Given the description of an element on the screen output the (x, y) to click on. 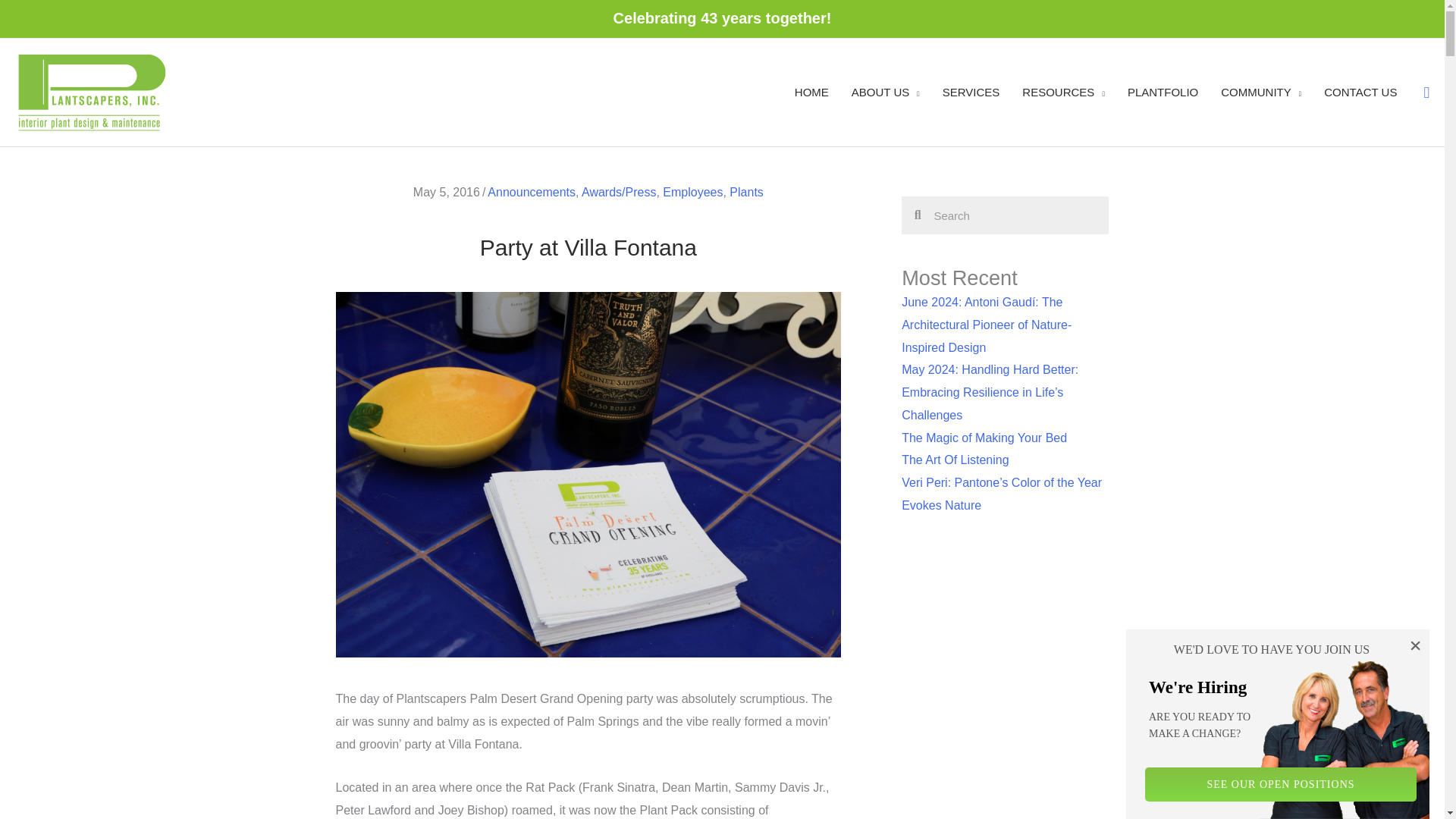
CONTACT US (1360, 92)
Search (1015, 215)
COMMUNITY (1261, 92)
ABOUT US (885, 92)
RESOURCES (1063, 92)
PLANTFOLIO (1162, 92)
SERVICES (971, 92)
HOME (811, 92)
